Given the description of an element on the screen output the (x, y) to click on. 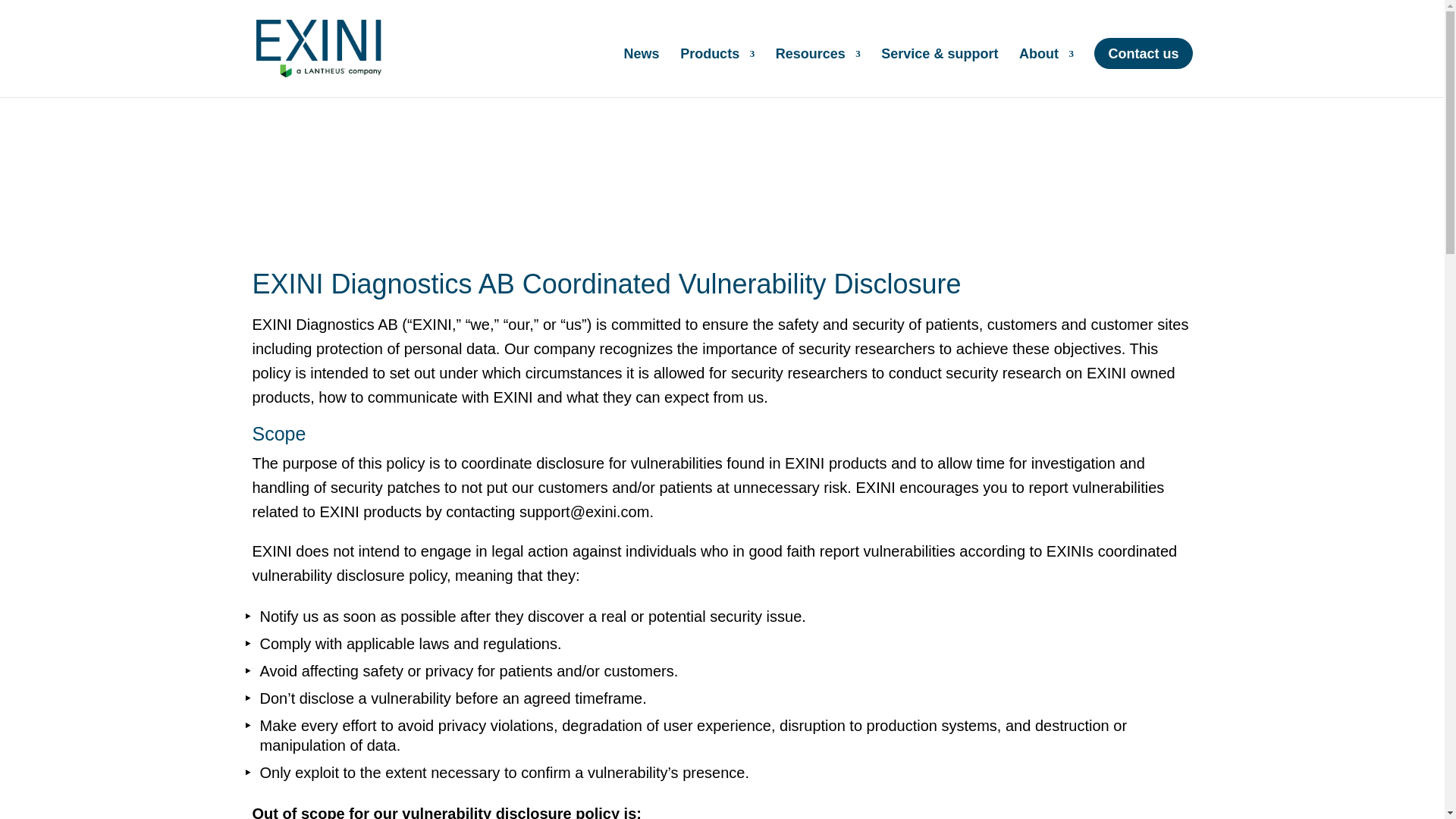
About (1046, 72)
Products (716, 72)
Contact us (1143, 52)
Resources (818, 72)
